Given the description of an element on the screen output the (x, y) to click on. 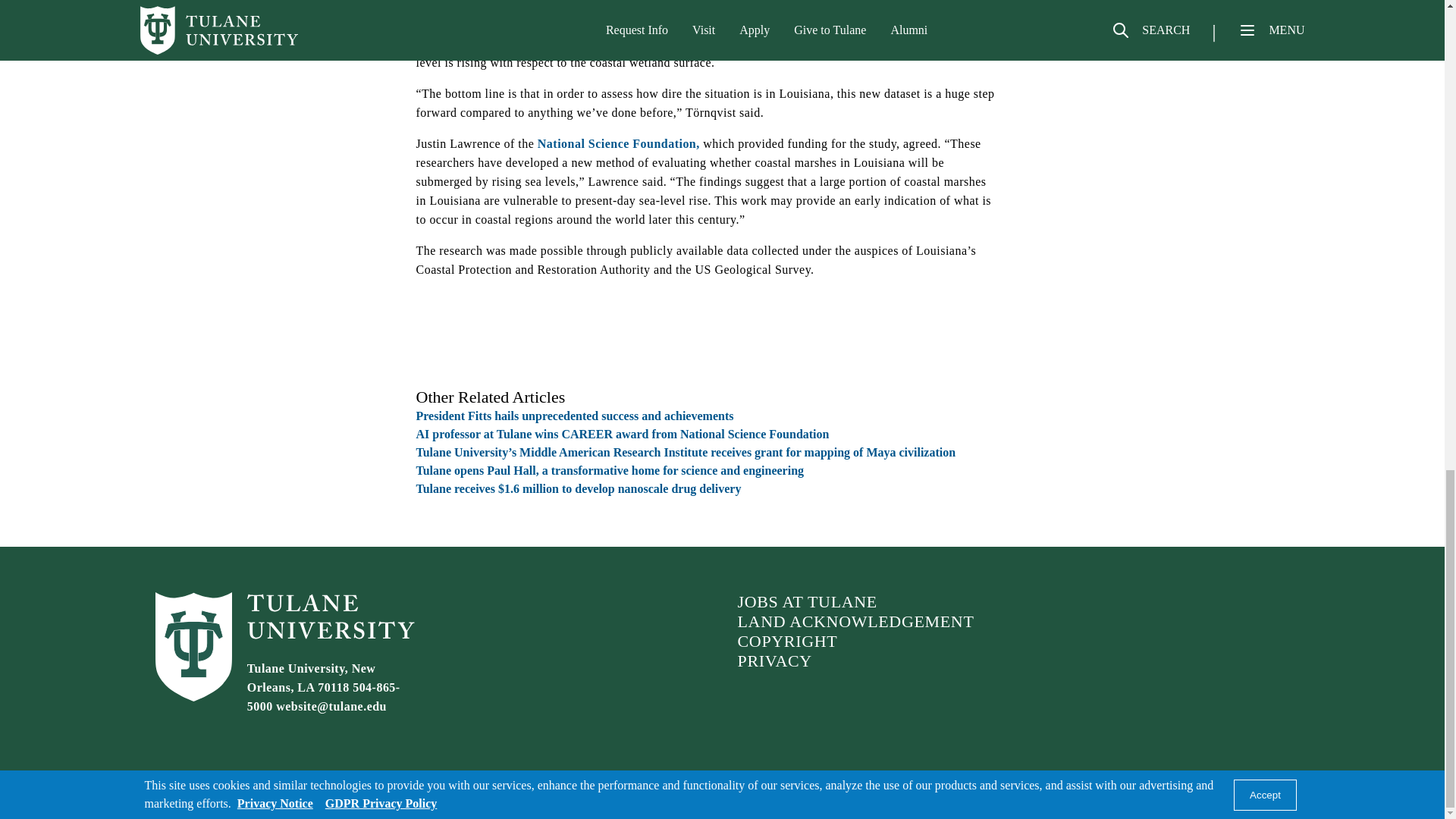
National Science Foundation, (618, 143)
President Fitts hails unprecedented success and achievements (573, 415)
